Given the description of an element on the screen output the (x, y) to click on. 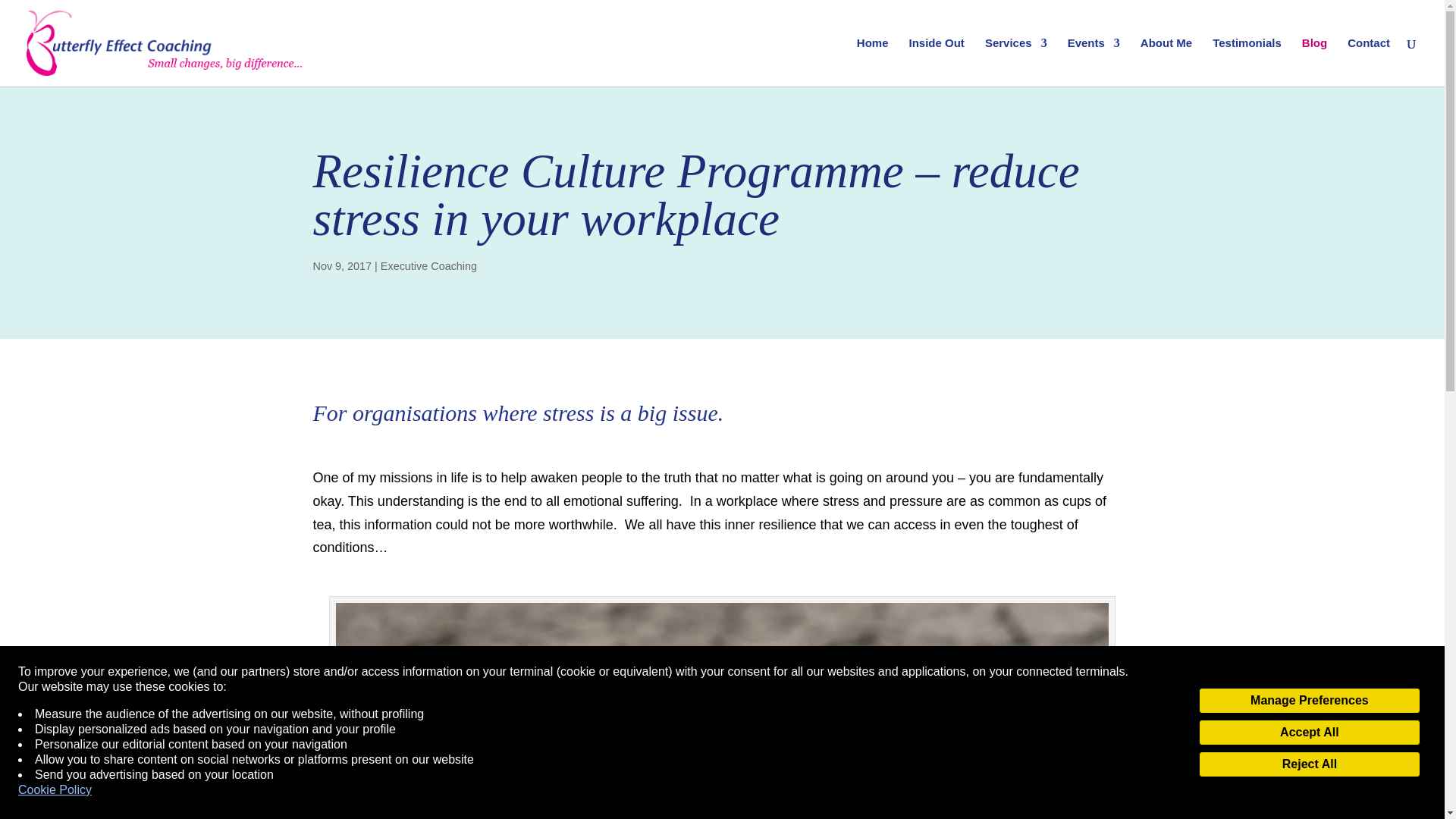
Inside Out (935, 61)
About Me (1166, 61)
Reject All (1309, 764)
Executive Coaching (428, 265)
Manage Preferences (1309, 700)
Events (1093, 61)
Services (1015, 61)
Cookie Policy (54, 789)
Accept All (1309, 732)
Testimonials (1246, 61)
